Given the description of an element on the screen output the (x, y) to click on. 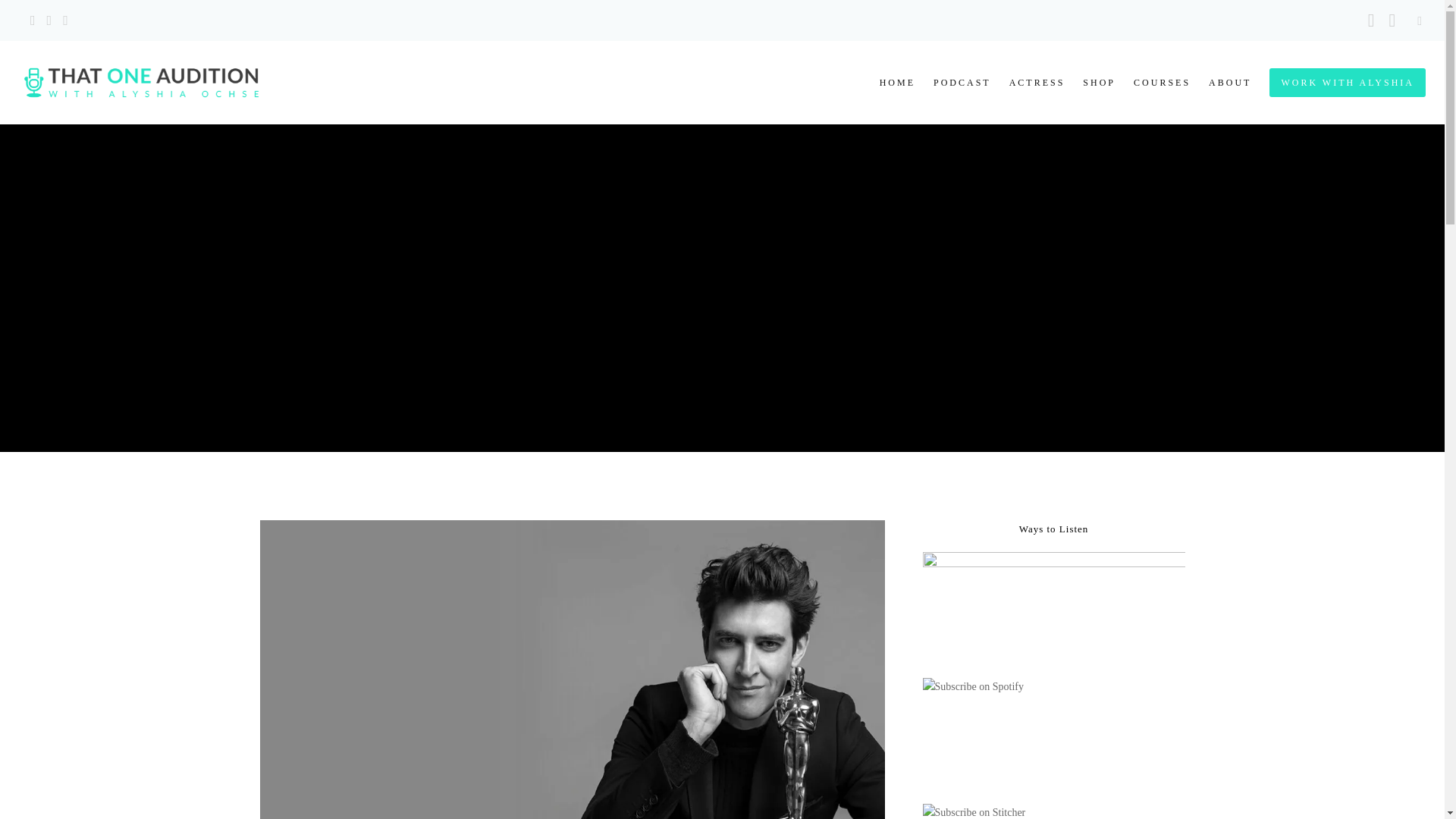
ACTRESS (1028, 82)
PODCAST (953, 82)
COURSES (1153, 82)
WORK WITH ALYSHIA (1337, 82)
